Given the description of an element on the screen output the (x, y) to click on. 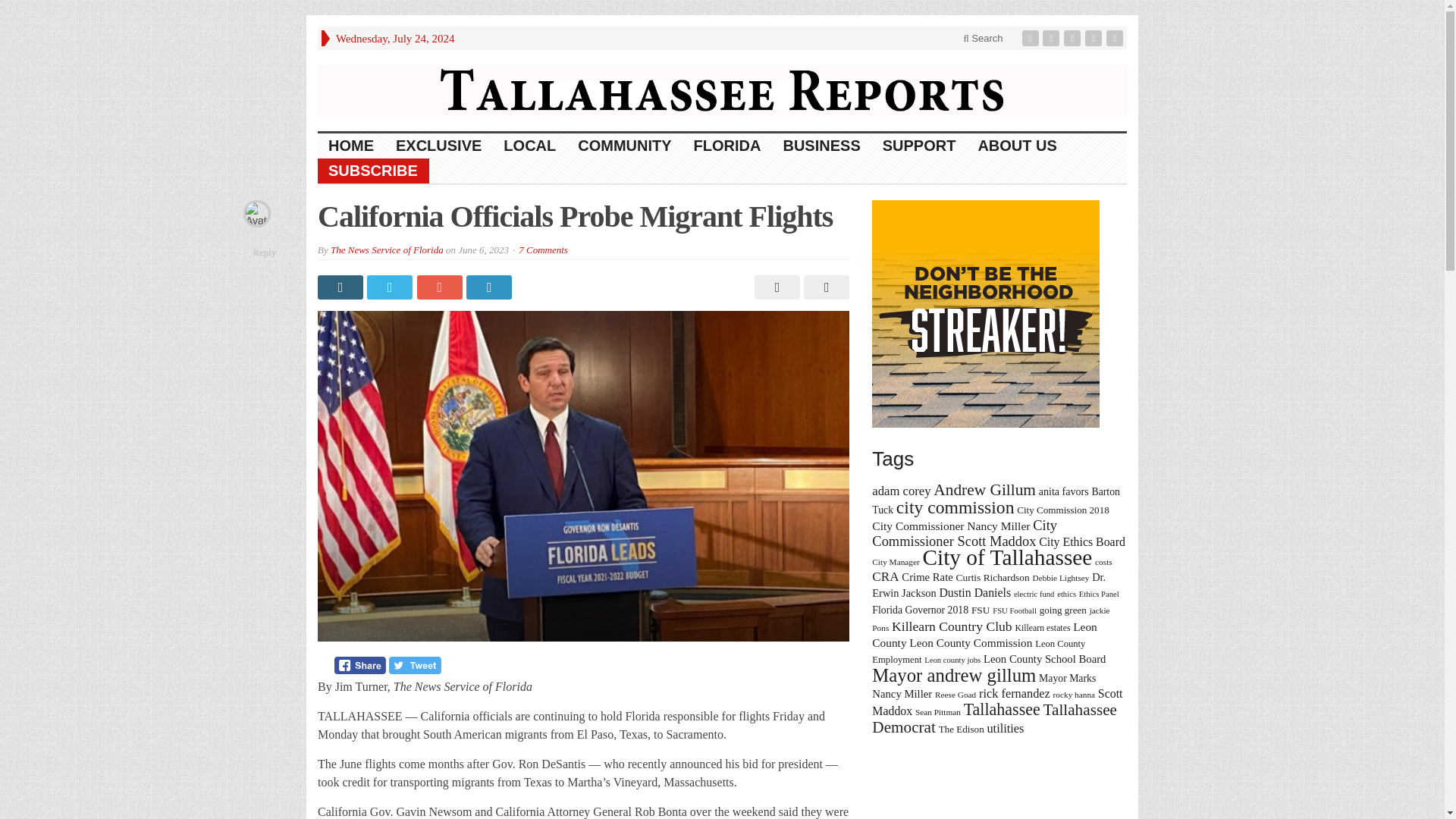
COMMUNITY (624, 145)
Online News (721, 90)
Twitter (1052, 37)
LOCAL (530, 145)
Facebook (1032, 37)
BUSINESS (820, 145)
ABOUT US (1016, 145)
Youtube (1094, 37)
Search (982, 37)
SUBSCRIBE (373, 170)
HOME (351, 145)
FLORIDA (727, 145)
SUPPORT (920, 145)
EXCLUSIVE (439, 145)
